Given the description of an element on the screen output the (x, y) to click on. 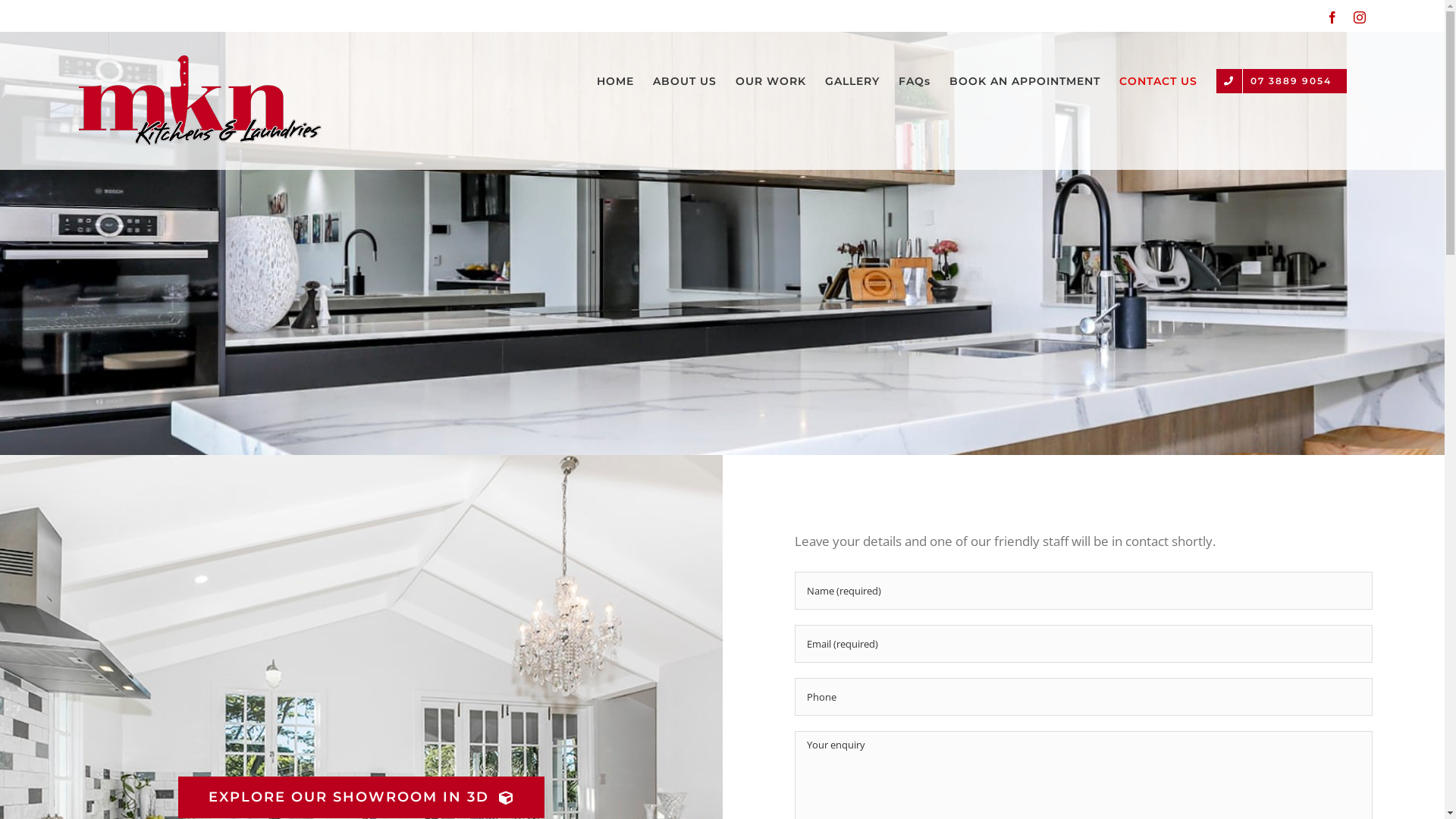
BOOK AN APPOINTMENT Element type: text (1024, 80)
GALLERY Element type: text (852, 80)
Facebook Element type: text (1332, 17)
07 3889 9054 Element type: text (1281, 80)
CONTACT US Element type: text (1158, 80)
Instagram Element type: text (1359, 17)
EXPLORE OUR SHOWROOM IN 3D Element type: text (361, 797)
OUR WORK Element type: text (770, 80)
FAQs Element type: text (914, 80)
ABOUT US Element type: text (684, 80)
HOME Element type: text (614, 80)
